Given the description of an element on the screen output the (x, y) to click on. 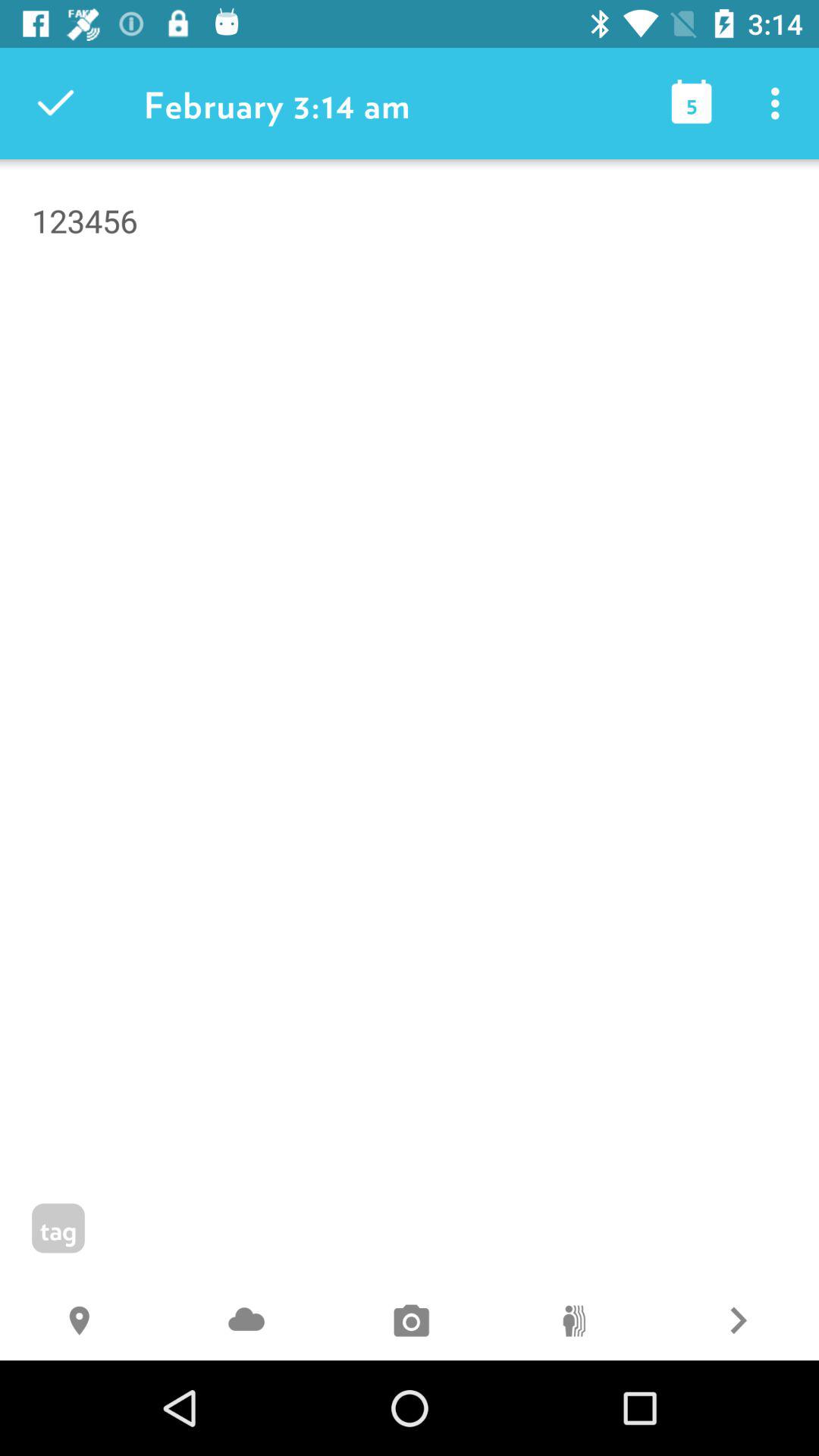
open the 123456 icon (409, 300)
